Given the description of an element on the screen output the (x, y) to click on. 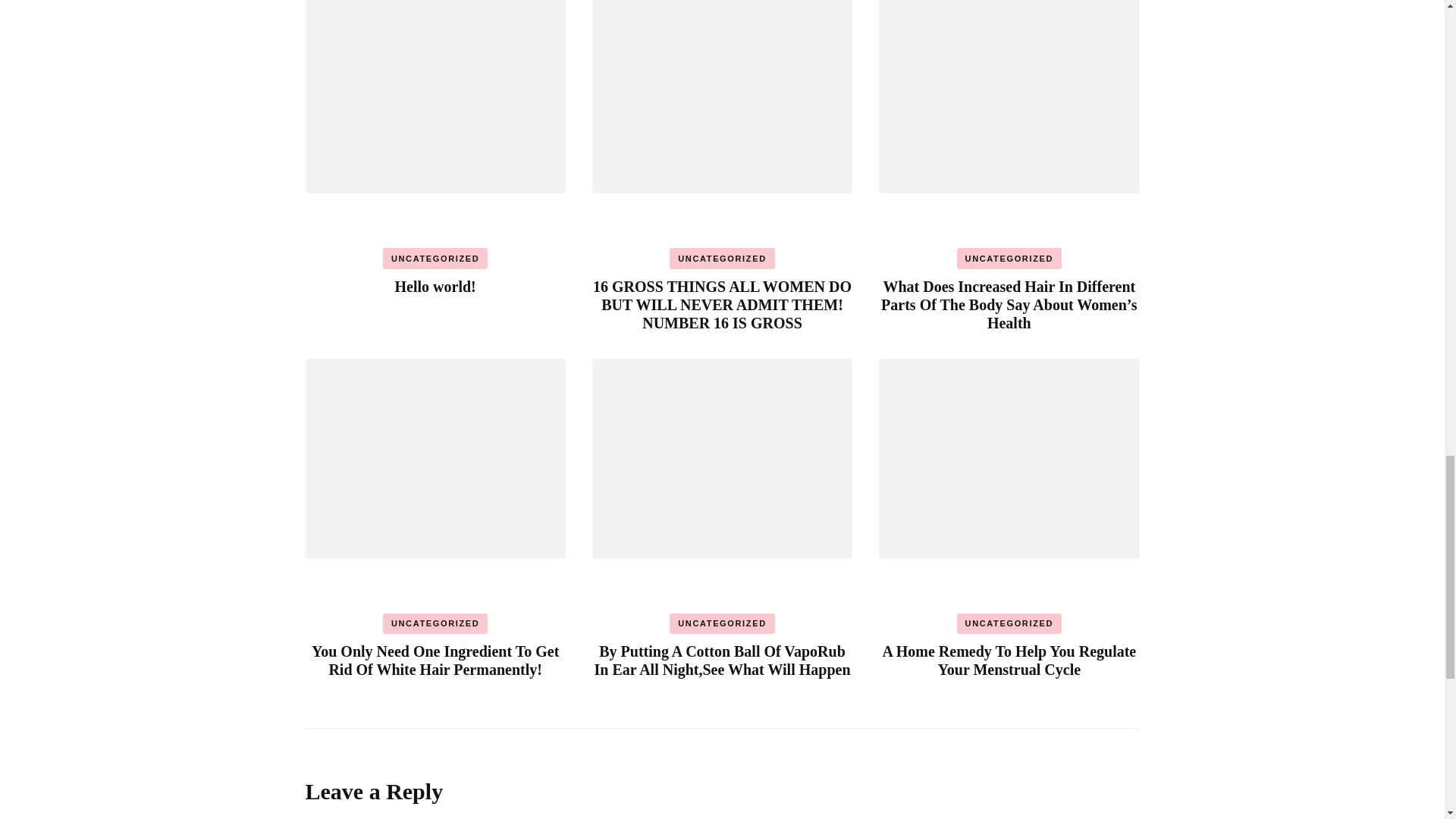
UNCATEGORIZED (721, 258)
UNCATEGORIZED (434, 623)
UNCATEGORIZED (434, 258)
Hello world! (435, 286)
UNCATEGORIZED (721, 623)
UNCATEGORIZED (1009, 258)
